Given the description of an element on the screen output the (x, y) to click on. 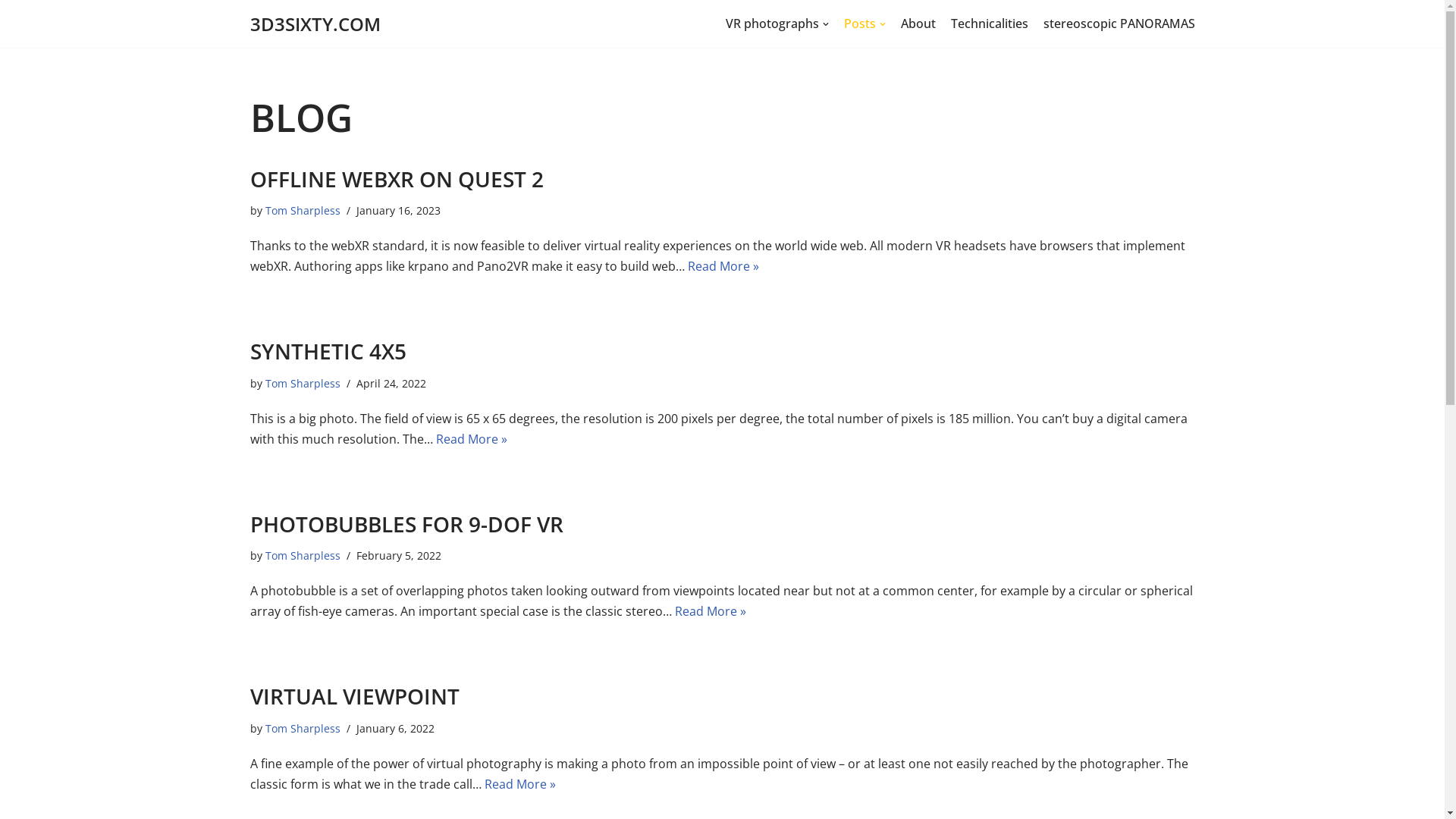
Posts Element type: text (863, 24)
OFFLINE WEBXR ON QUEST 2 Element type: text (396, 178)
VIRTUAL VIEWPOINT Element type: text (354, 695)
VR photographs Element type: text (776, 24)
SYNTHETIC 4X5 Element type: text (328, 350)
Tom Sharpless Element type: text (302, 383)
Tom Sharpless Element type: text (302, 210)
About Element type: text (917, 24)
Skip to content Element type: text (11, 31)
PHOTOBUBBLES FOR 9-DOF VR Element type: text (406, 523)
Tom Sharpless Element type: text (302, 555)
stereoscopic PANORAMAS Element type: text (1119, 24)
Technicalities Element type: text (989, 24)
Tom Sharpless Element type: text (302, 728)
3D3SIXTY.COM Element type: text (315, 23)
